Given the description of an element on the screen output the (x, y) to click on. 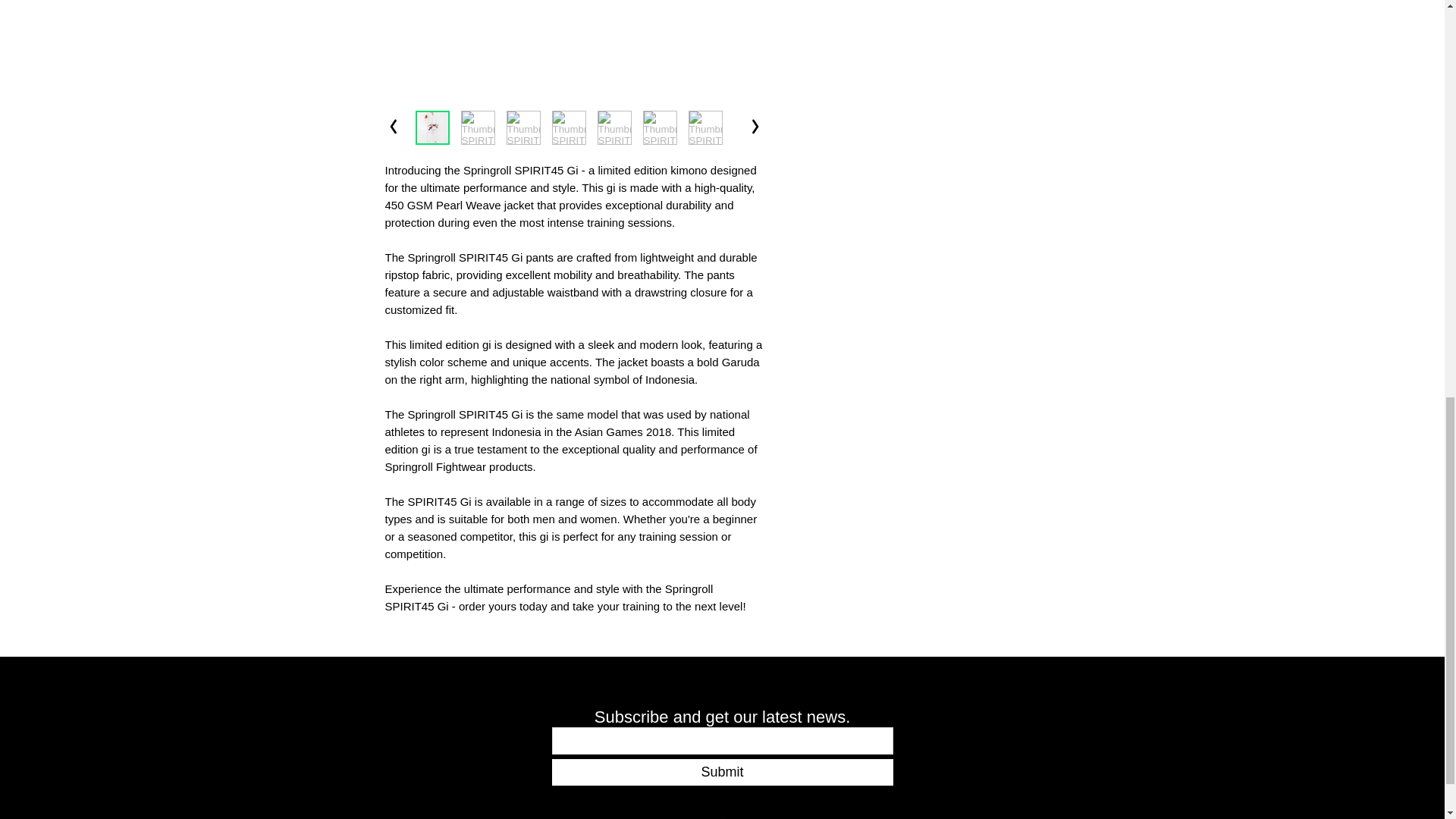
Submit (722, 772)
